Given the description of an element on the screen output the (x, y) to click on. 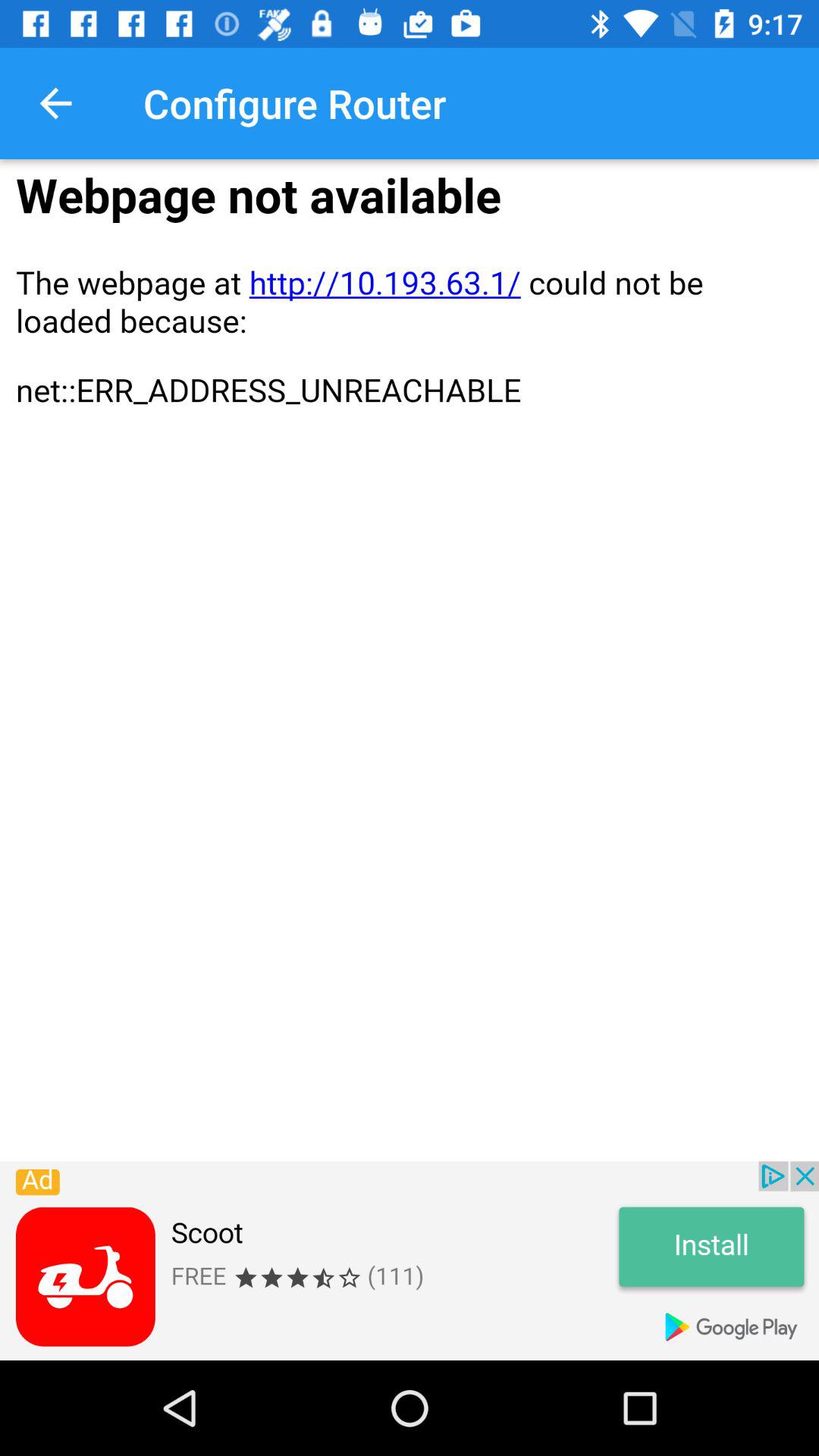
advertisement (409, 1260)
